Given the description of an element on the screen output the (x, y) to click on. 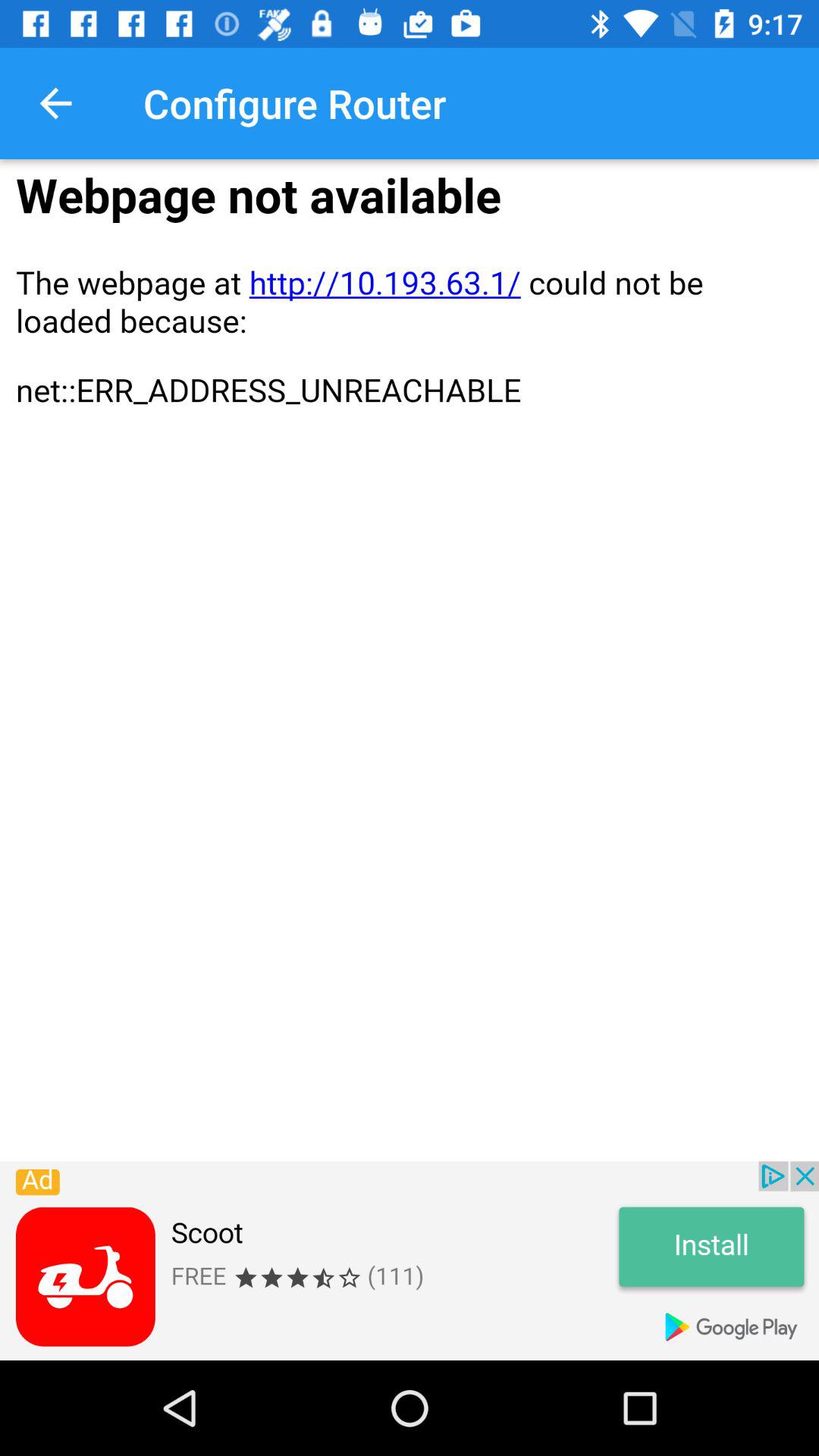
advertisement (409, 1260)
